Given the description of an element on the screen output the (x, y) to click on. 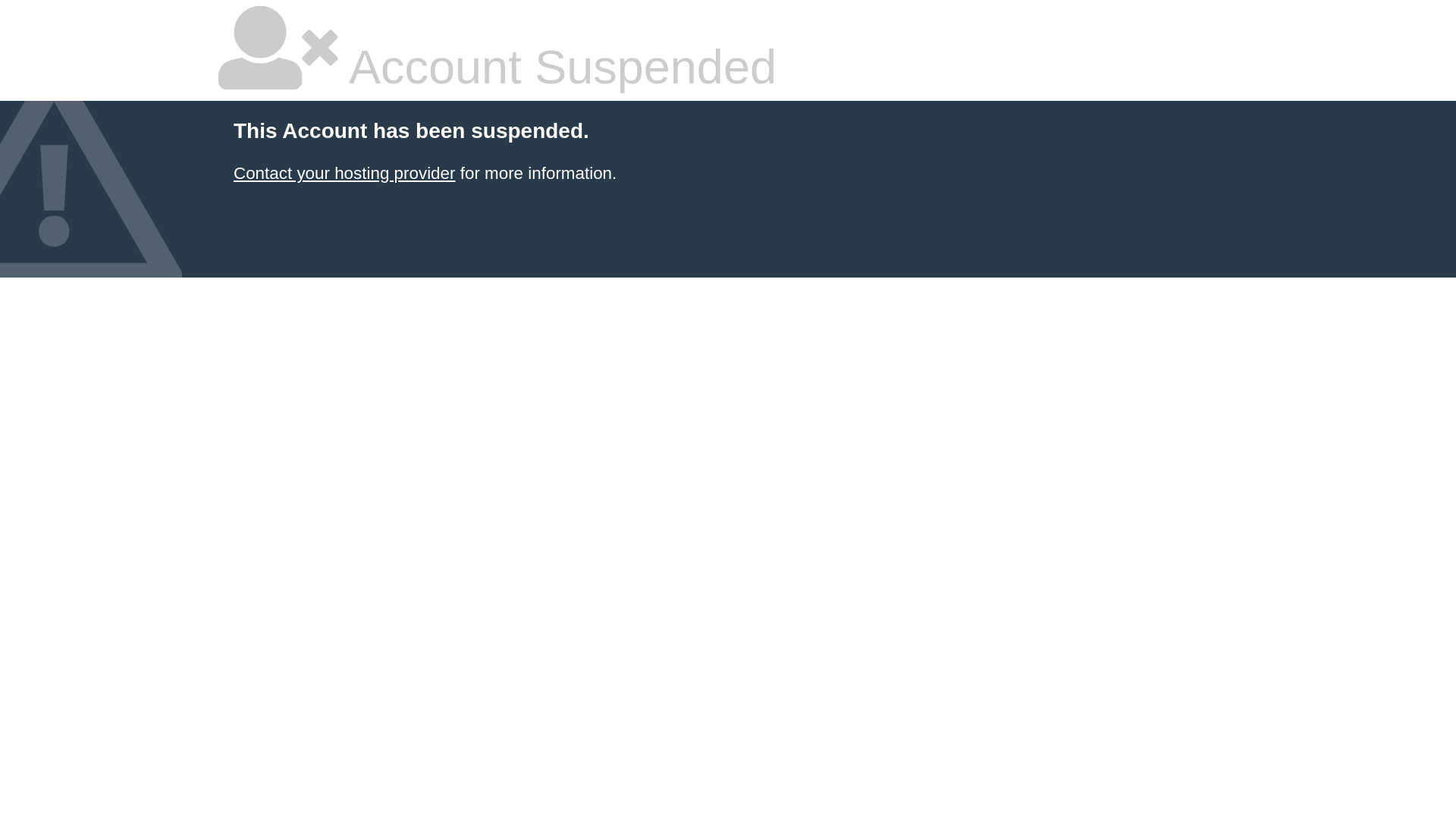
Contact your hosting provider Element type: text (344, 172)
